Given the description of an element on the screen output the (x, y) to click on. 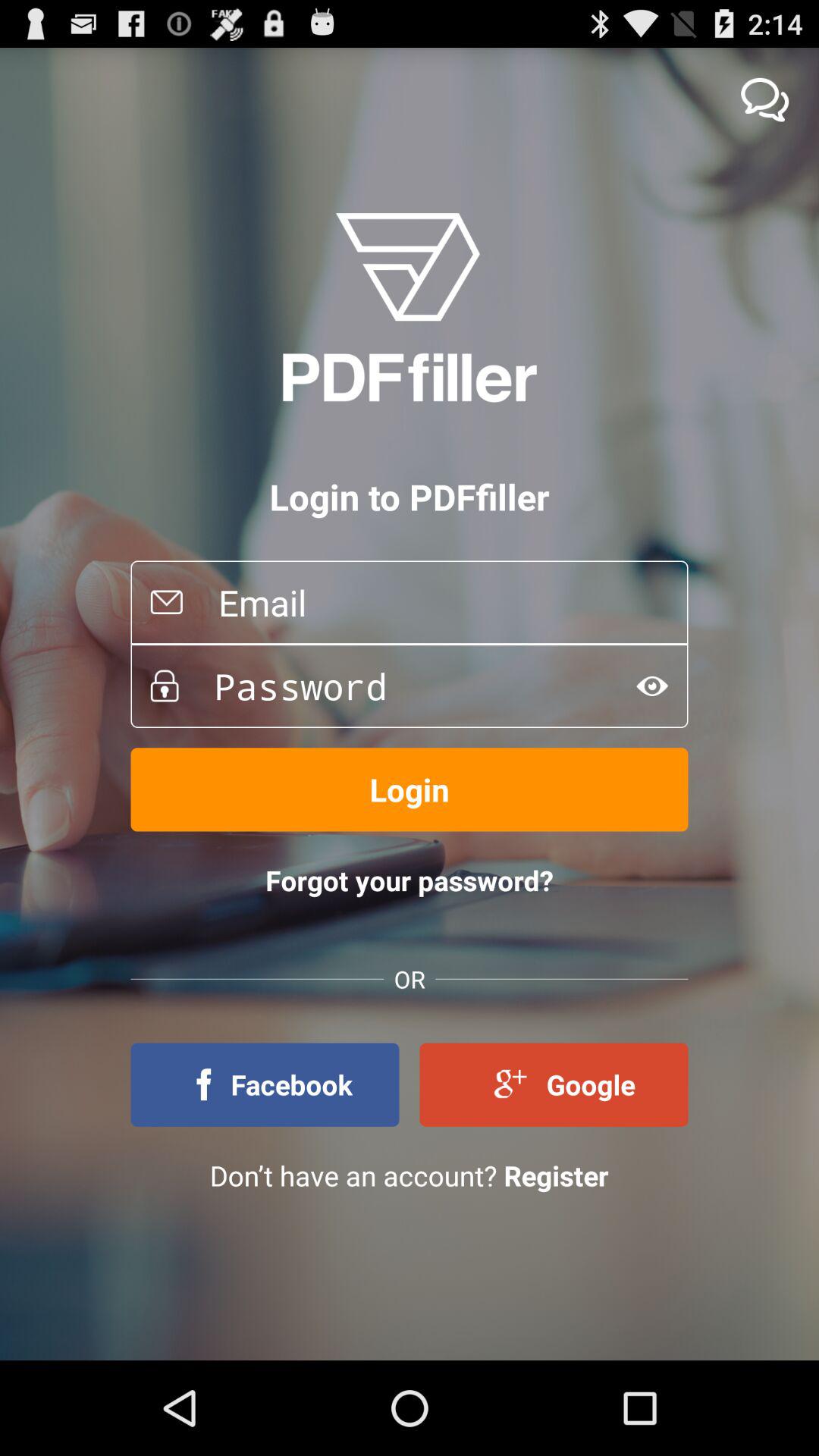
live chat (764, 99)
